Given the description of an element on the screen output the (x, y) to click on. 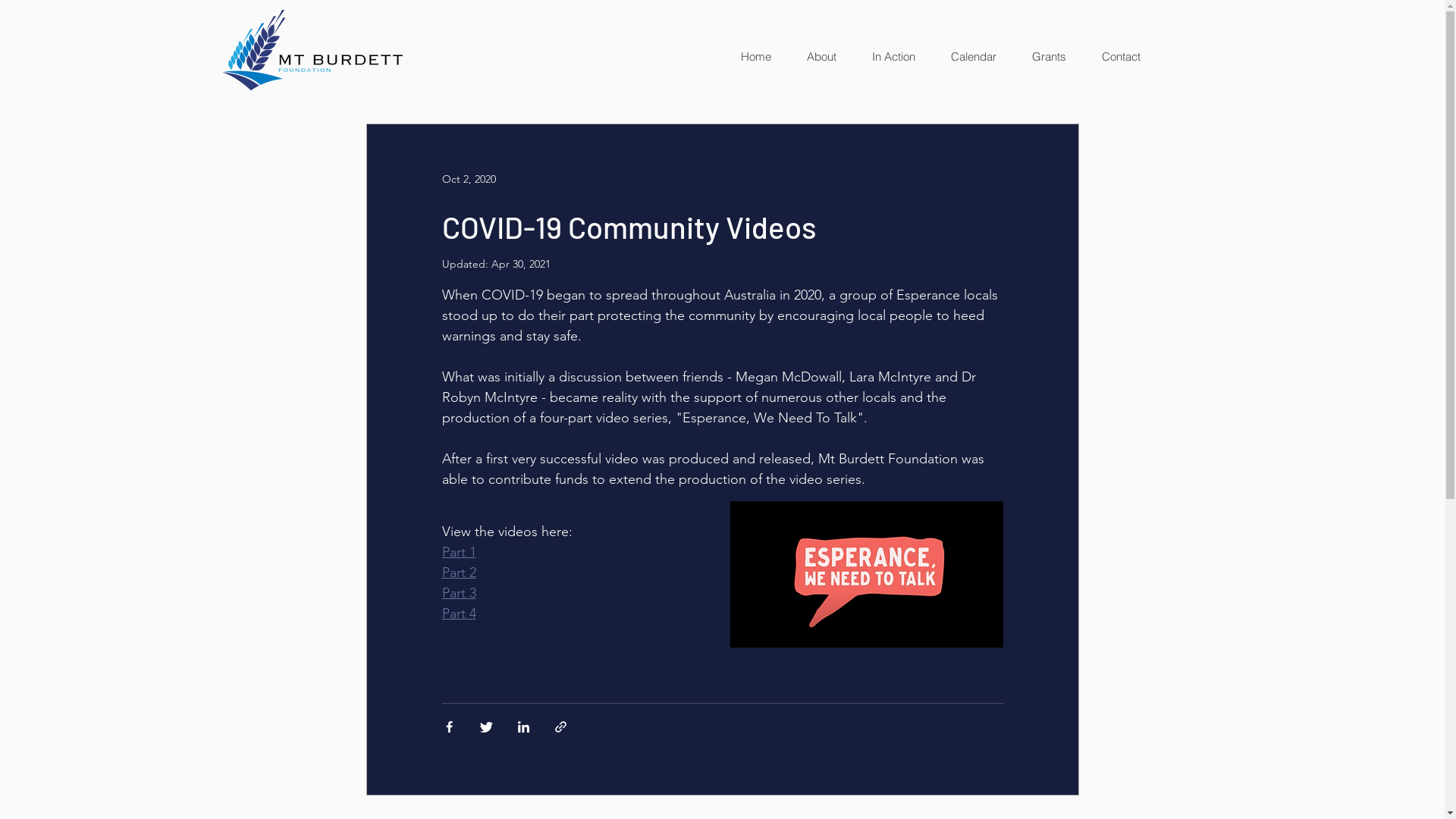
Calendar Element type: text (966, 56)
Part 4 Element type: text (458, 613)
Part 3 Element type: text (458, 592)
Part 2 Element type: text (458, 572)
Contact Element type: text (1113, 56)
In Action Element type: text (886, 56)
Part 1 Element type: text (458, 551)
Home Element type: text (748, 56)
Grants Element type: text (1041, 56)
About Element type: text (814, 56)
